Given the description of an element on the screen output the (x, y) to click on. 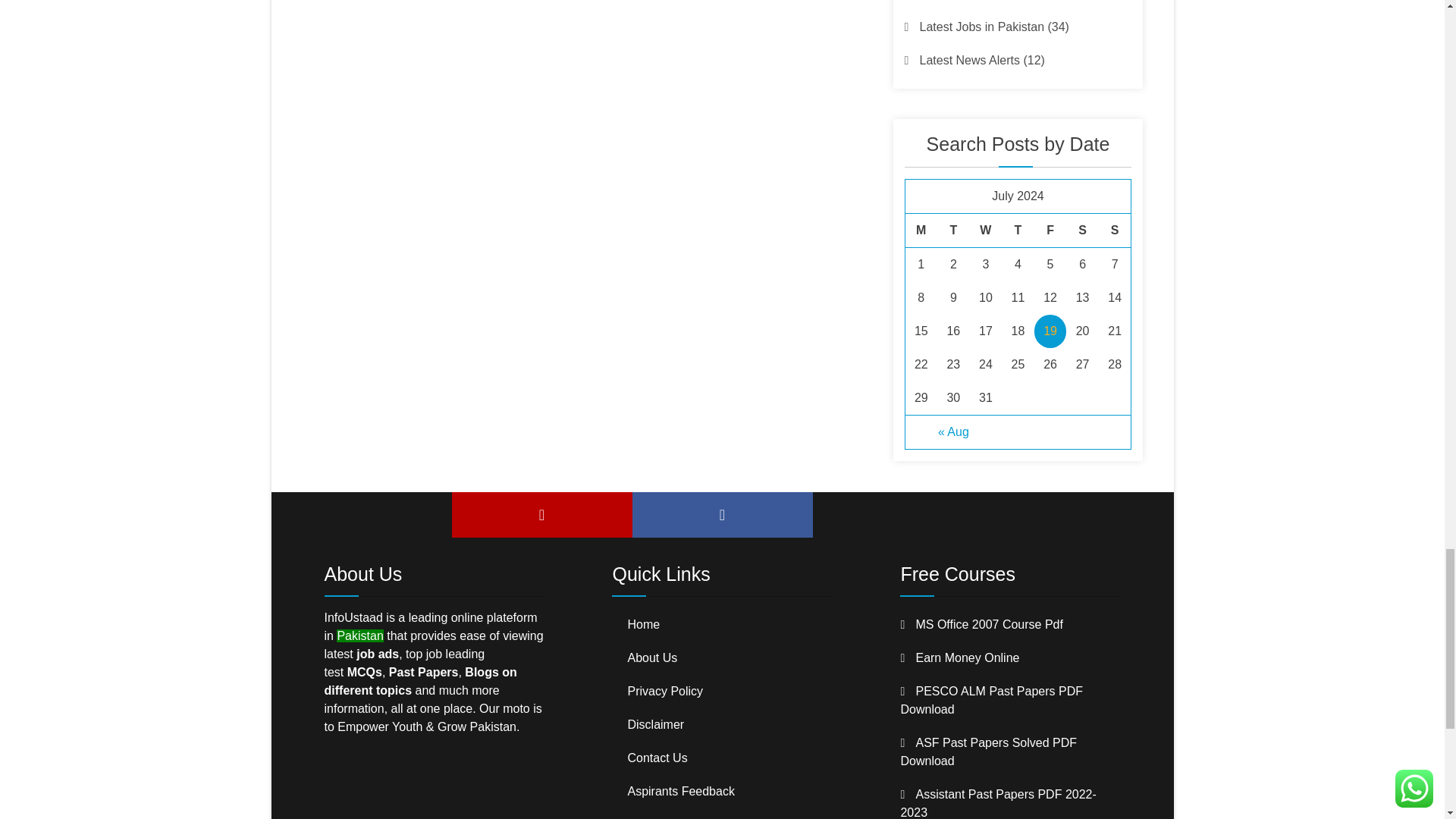
Monday (921, 230)
Sunday (1115, 230)
Tuesday (953, 230)
Saturday (1082, 230)
Wednesday (986, 230)
Thursday (1017, 230)
Friday (1050, 230)
